Given the description of an element on the screen output the (x, y) to click on. 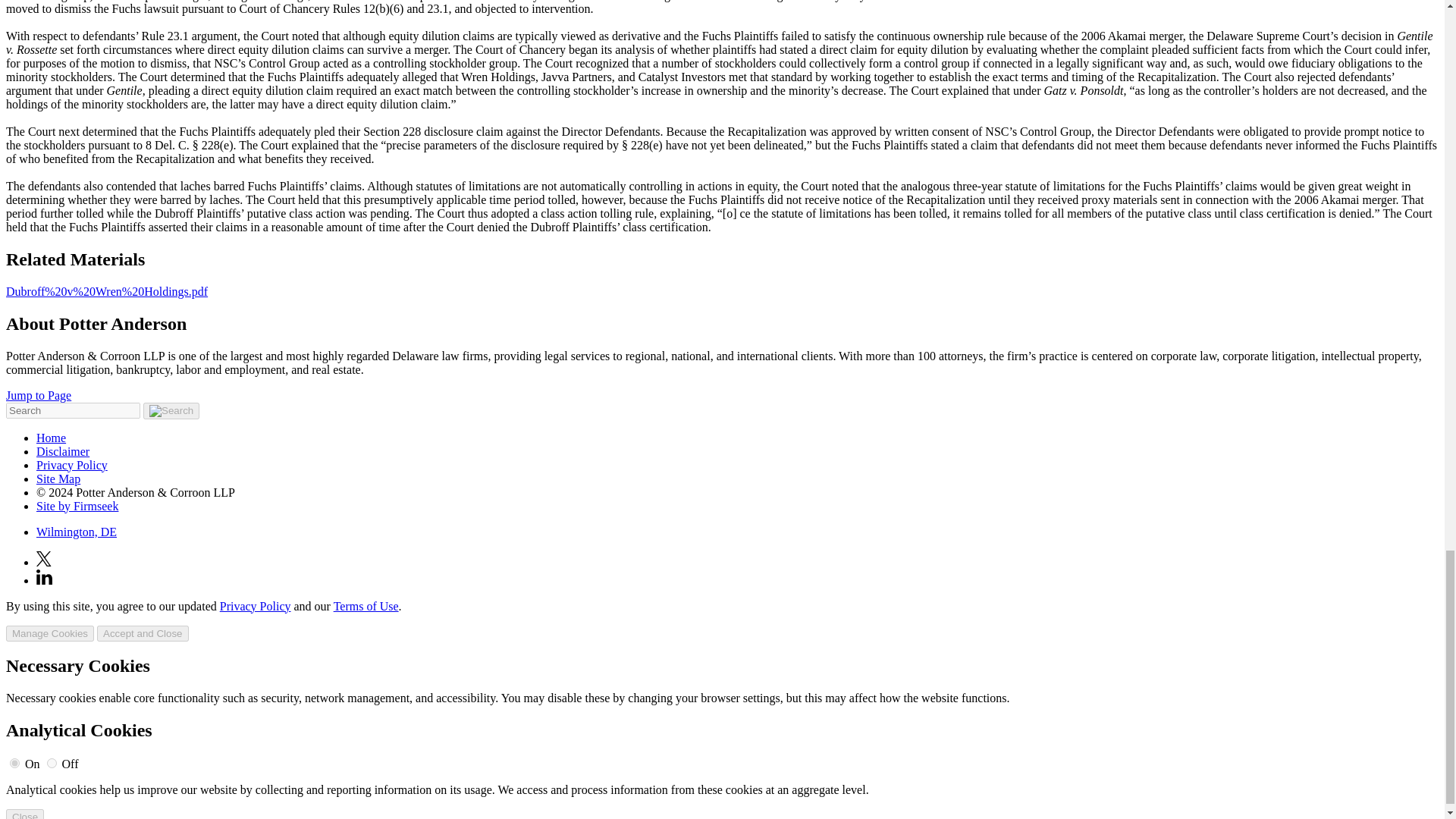
Linkedin (44, 579)
on (15, 763)
Linkedin (44, 575)
off (51, 763)
